Given the description of an element on the screen output the (x, y) to click on. 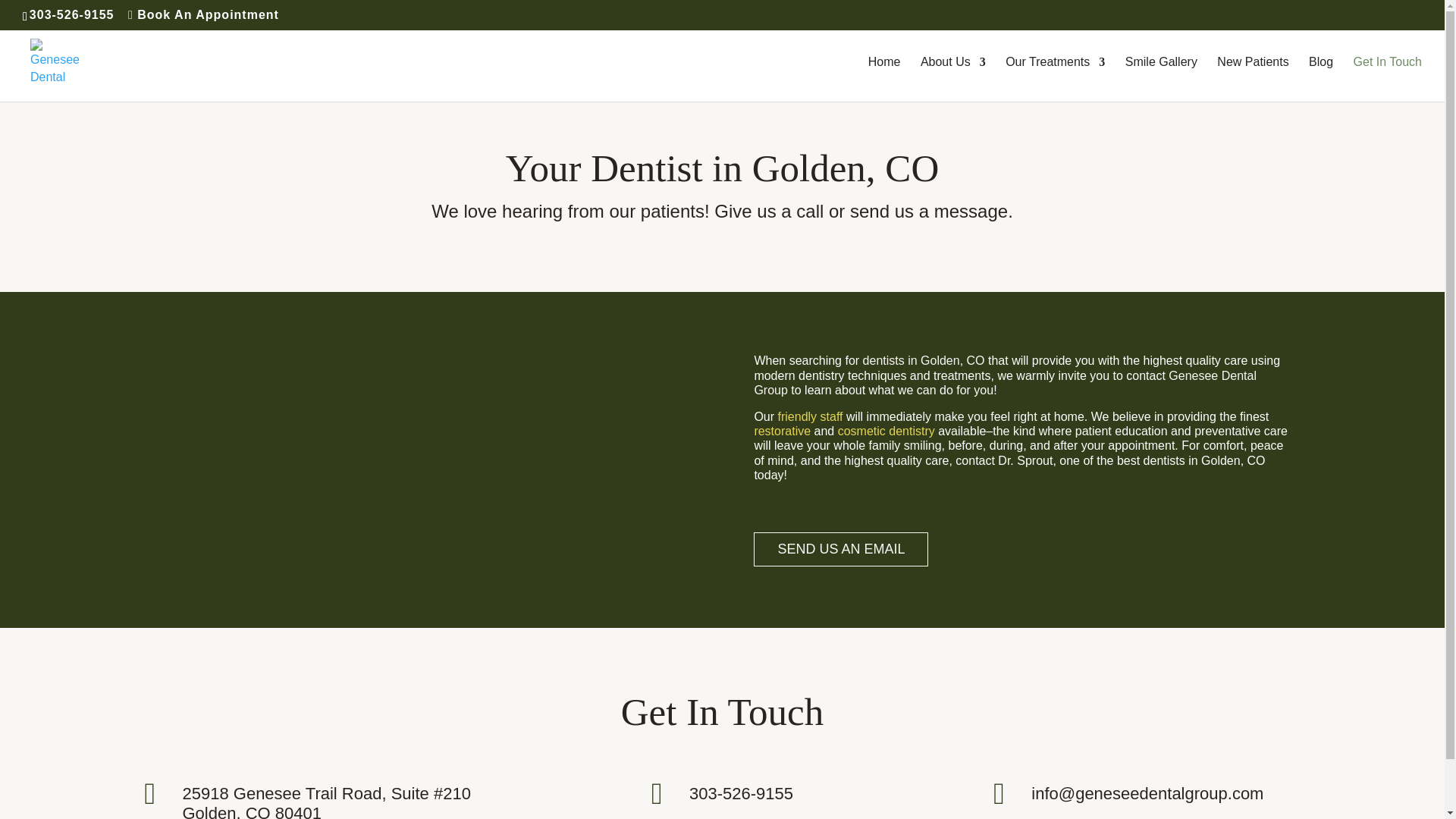
New Patients (1252, 78)
Book An Appointment (203, 14)
restorative (782, 431)
Our Treatments (1055, 78)
Smile Gallery (1160, 78)
cosmetic dentistry (886, 431)
Genesee Dental Group (1005, 382)
friendly staff (810, 416)
About Us (952, 78)
SEND US AN EMAIL (841, 549)
Get In Touch (1388, 78)
303-526-9155 (72, 14)
dentists in Golden, CO (924, 359)
